Given the description of an element on the screen output the (x, y) to click on. 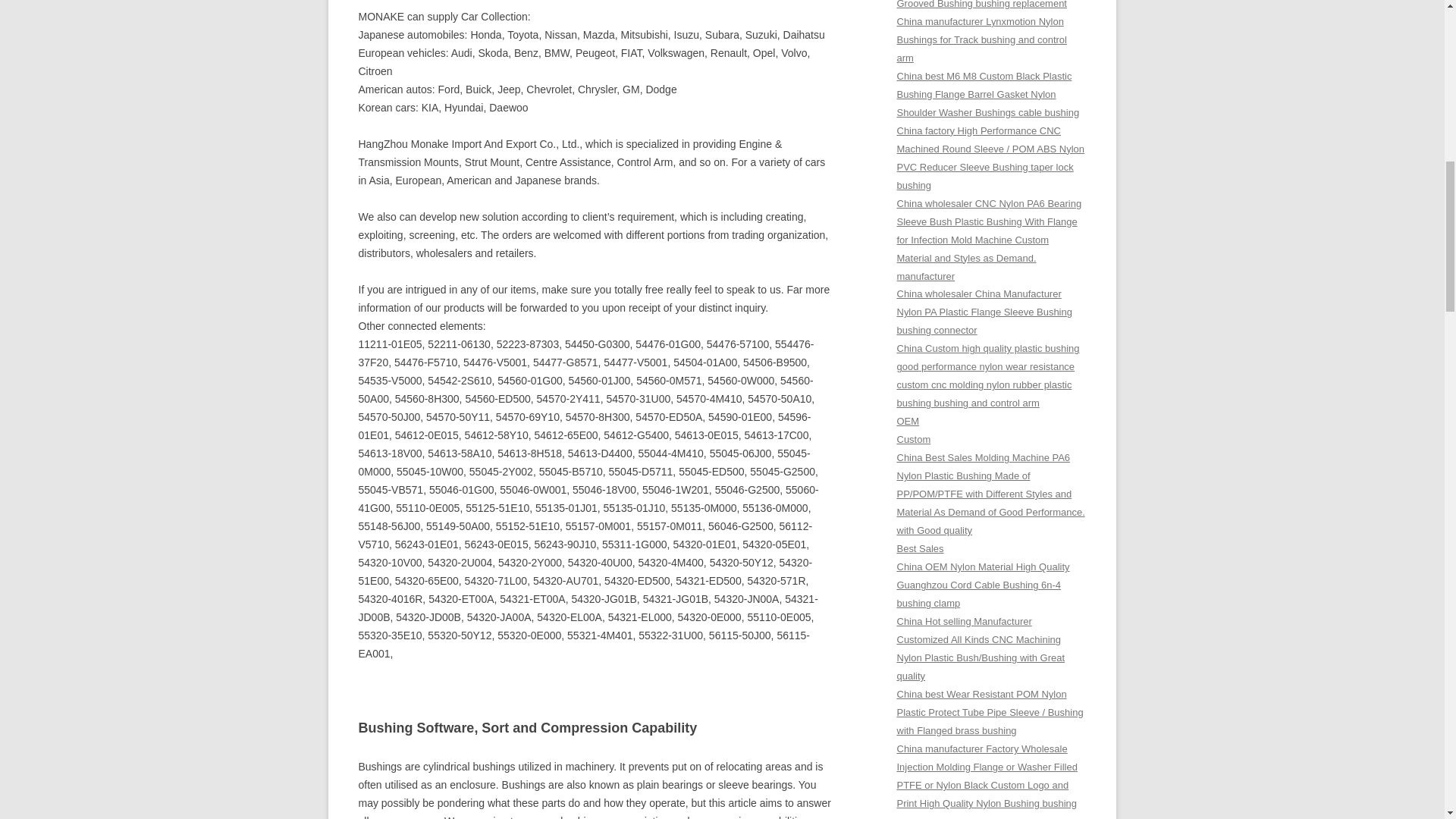
OEM (907, 420)
Custom (913, 439)
Best Sales (919, 548)
